Given the description of an element on the screen output the (x, y) to click on. 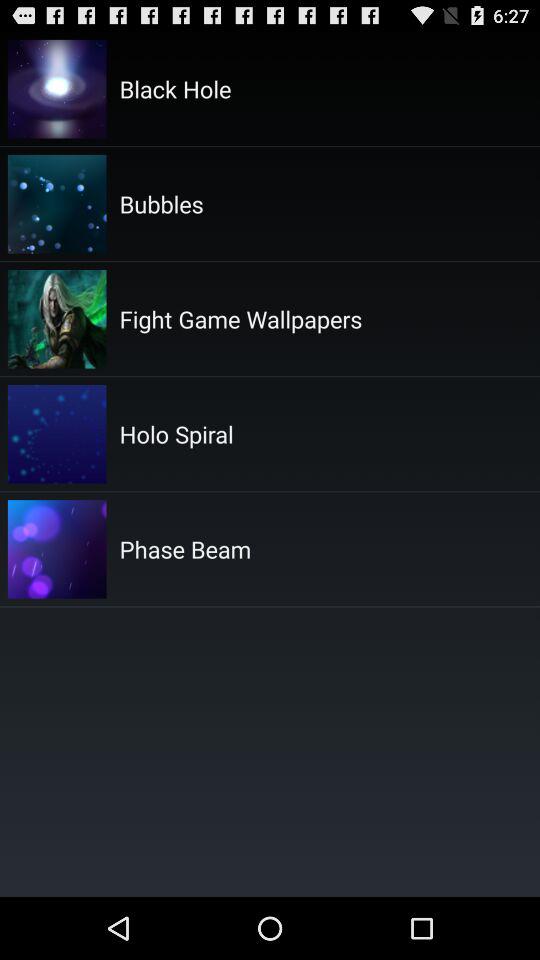
swipe to fight game wallpapers app (240, 318)
